Given the description of an element on the screen output the (x, y) to click on. 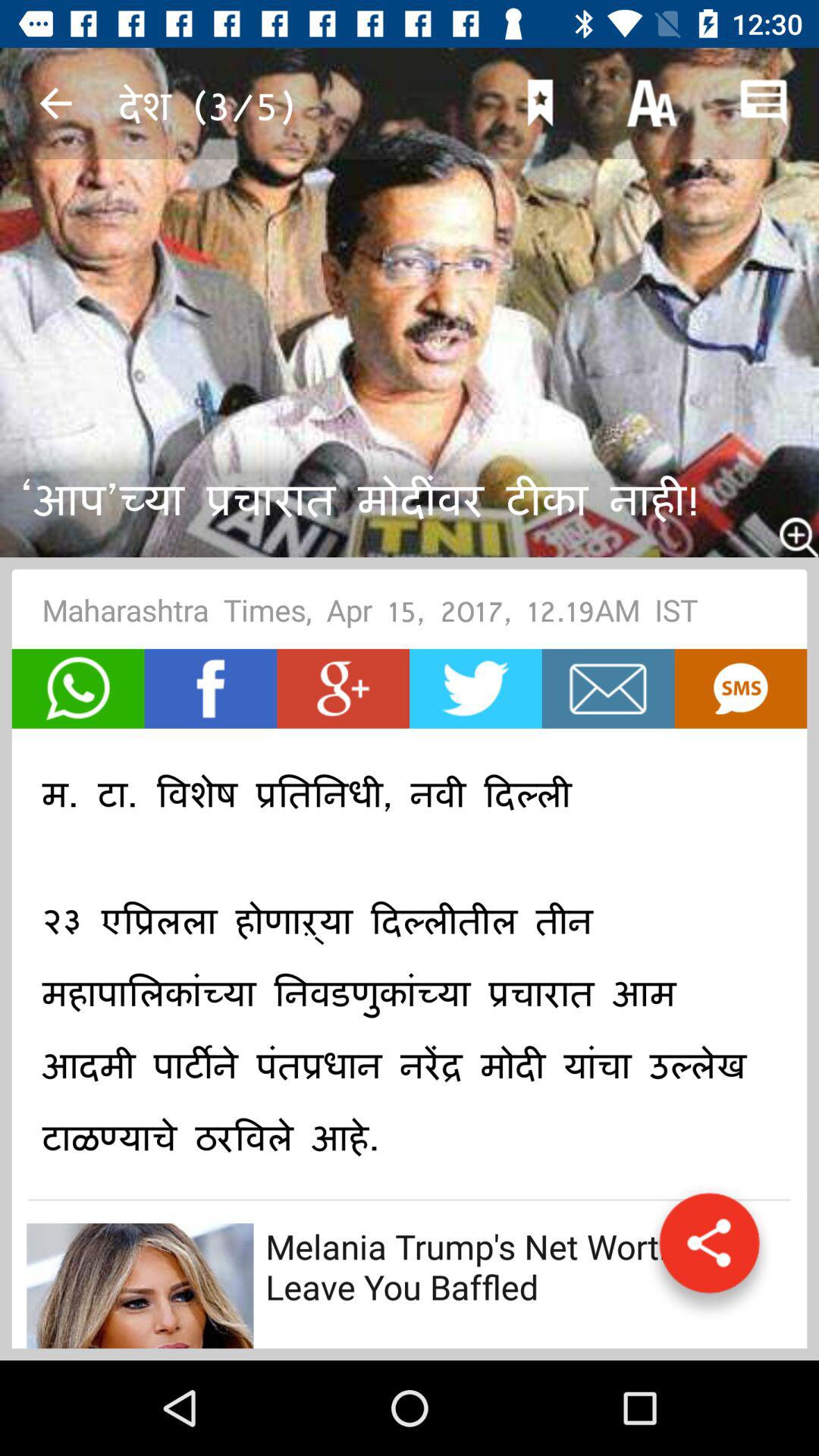
marathi news maharashtra times (210, 688)
